Given the description of an element on the screen output the (x, y) to click on. 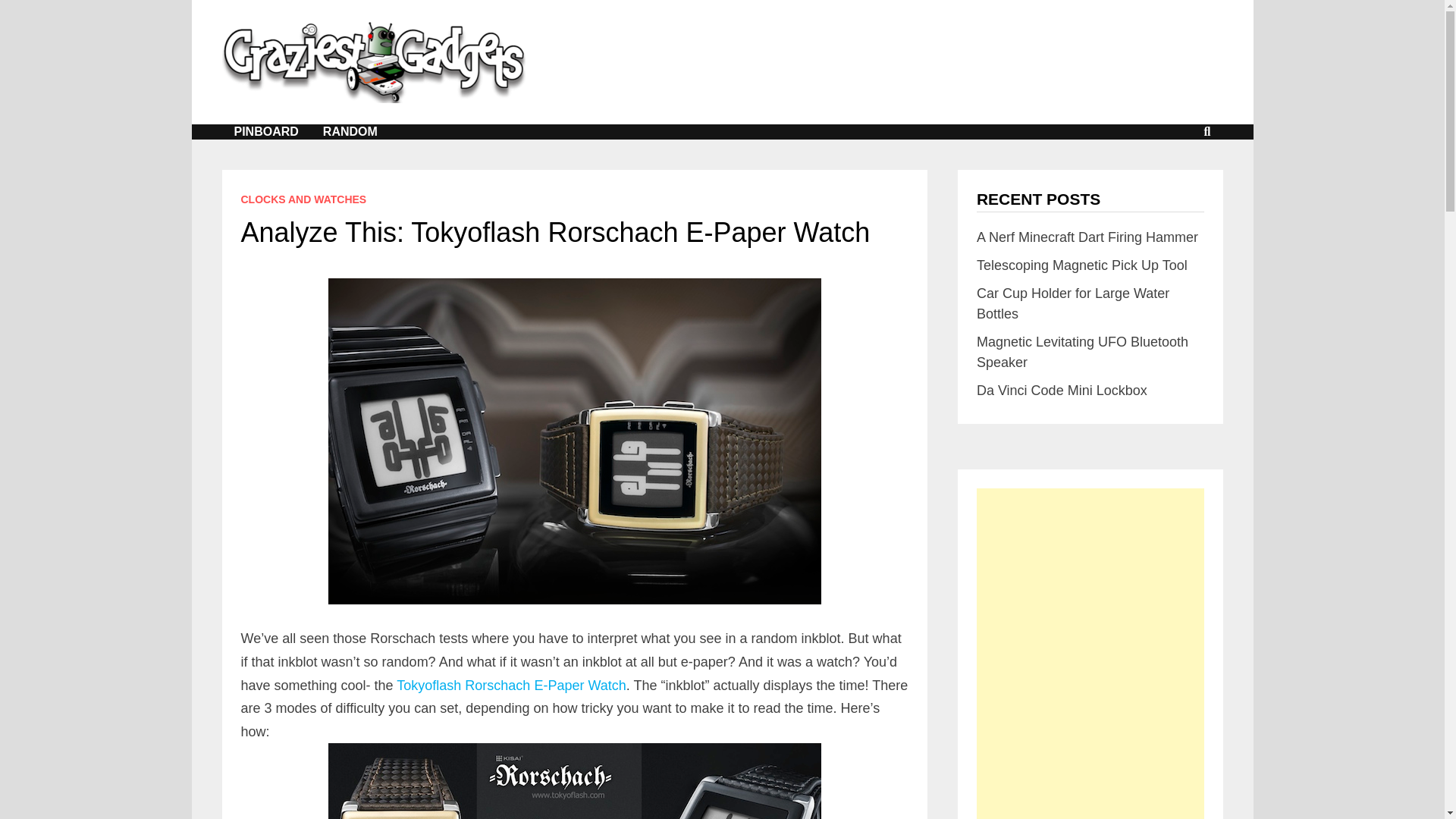
PINBOARD (265, 131)
RANDOM (350, 131)
Tokyoflash Rorschach E-Paper Watch (511, 685)
CLOCKS AND WATCHES (303, 199)
